Given the description of an element on the screen output the (x, y) to click on. 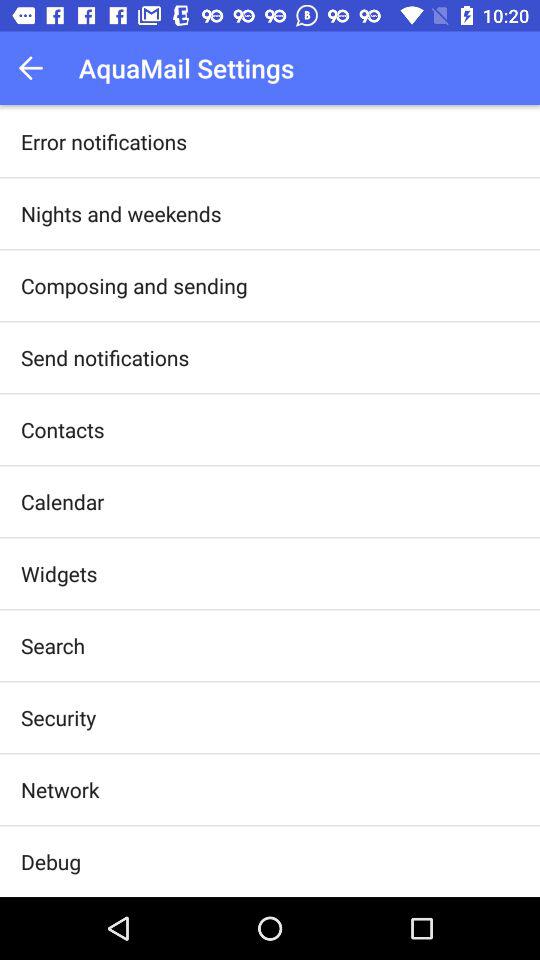
flip until search app (53, 645)
